Given the description of an element on the screen output the (x, y) to click on. 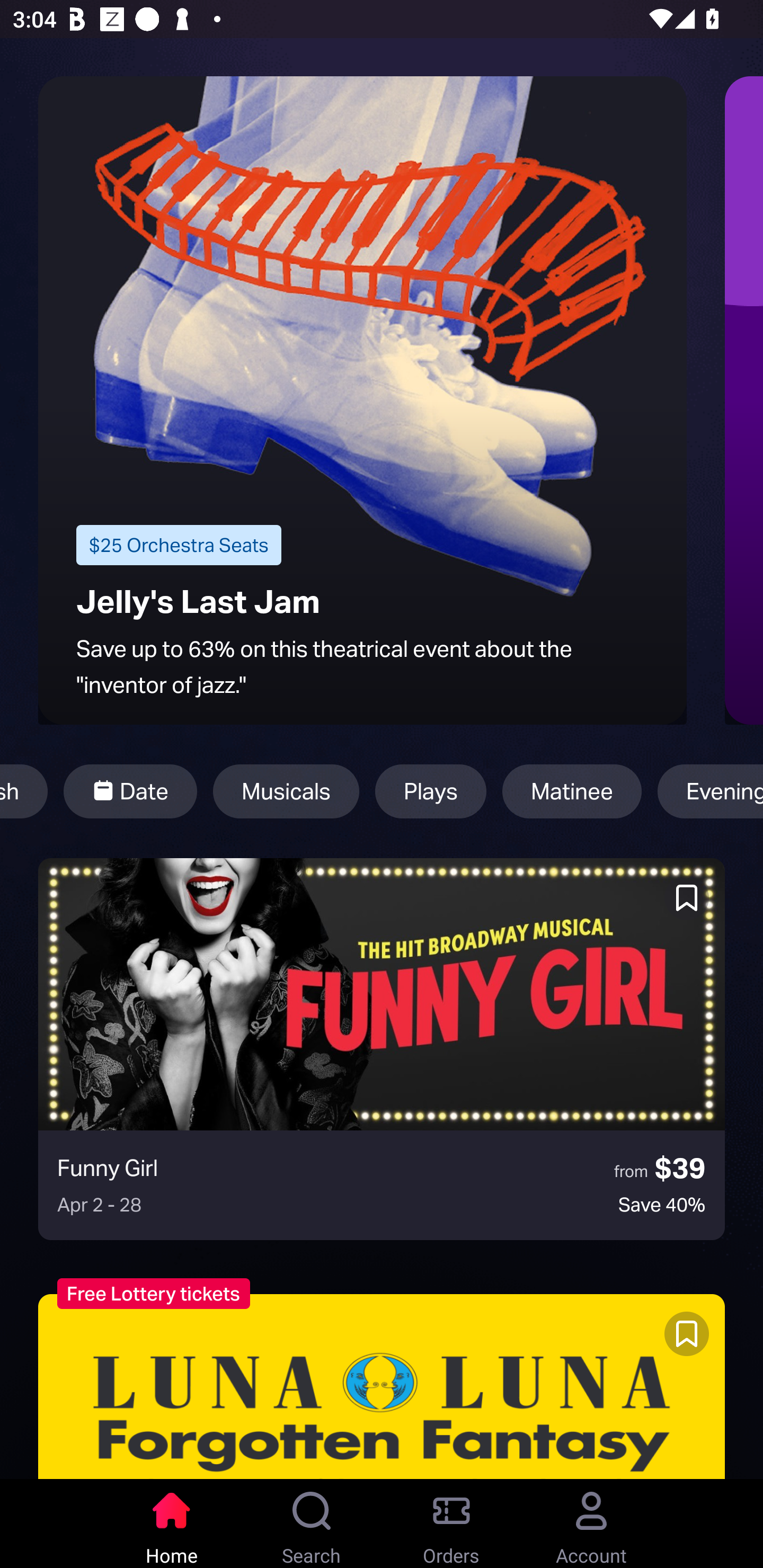
Date (129, 791)
Musicals (285, 791)
Plays (430, 791)
Matinee (571, 791)
Funny Girl from $39 Apr 2 - 28 Save 40% (381, 1048)
Search (311, 1523)
Orders (451, 1523)
Account (591, 1523)
